Given the description of an element on the screen output the (x, y) to click on. 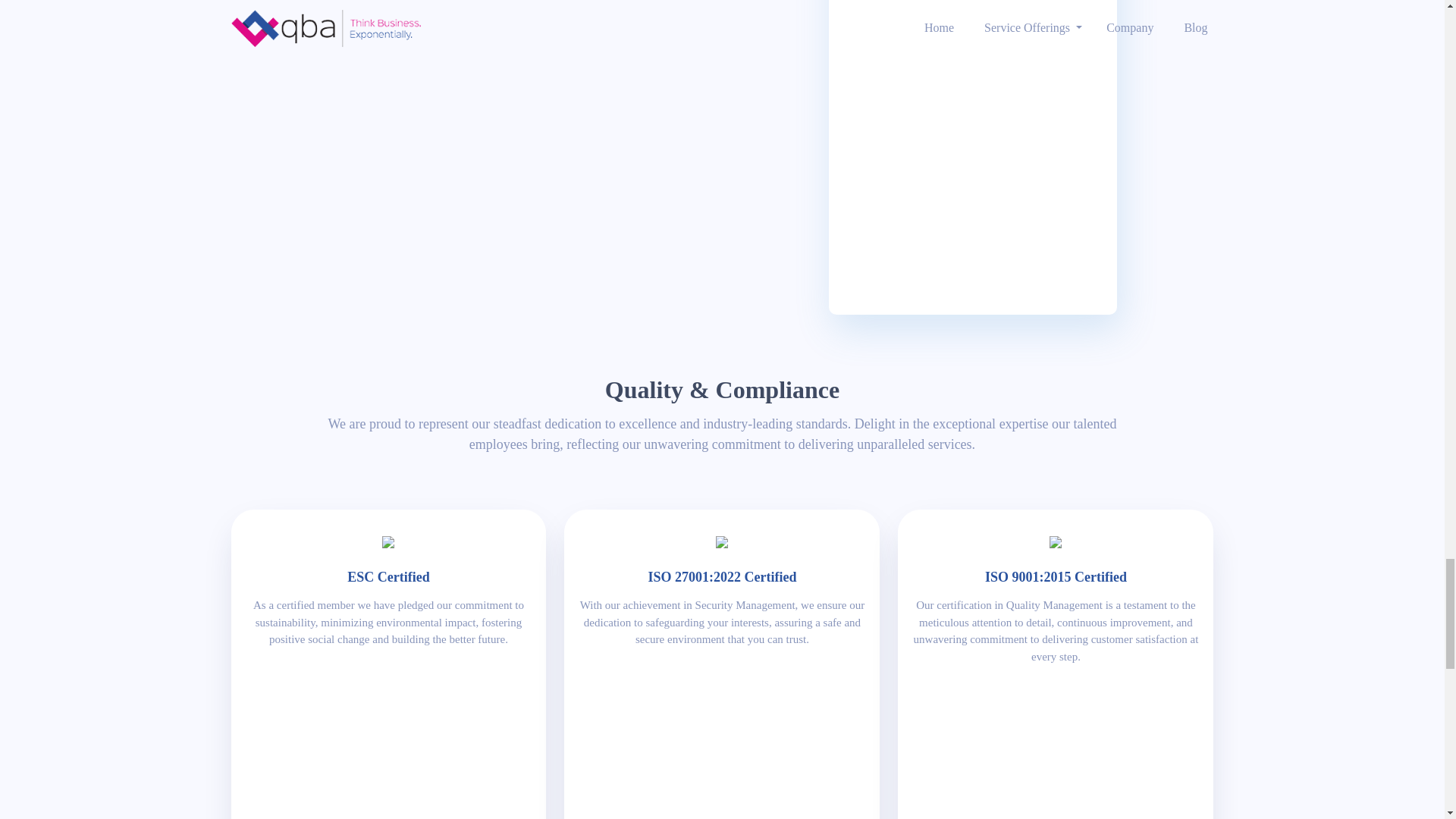
View Certificate (388, 664)
View Certificate (1055, 664)
View Certificate (721, 664)
